Given the description of an element on the screen output the (x, y) to click on. 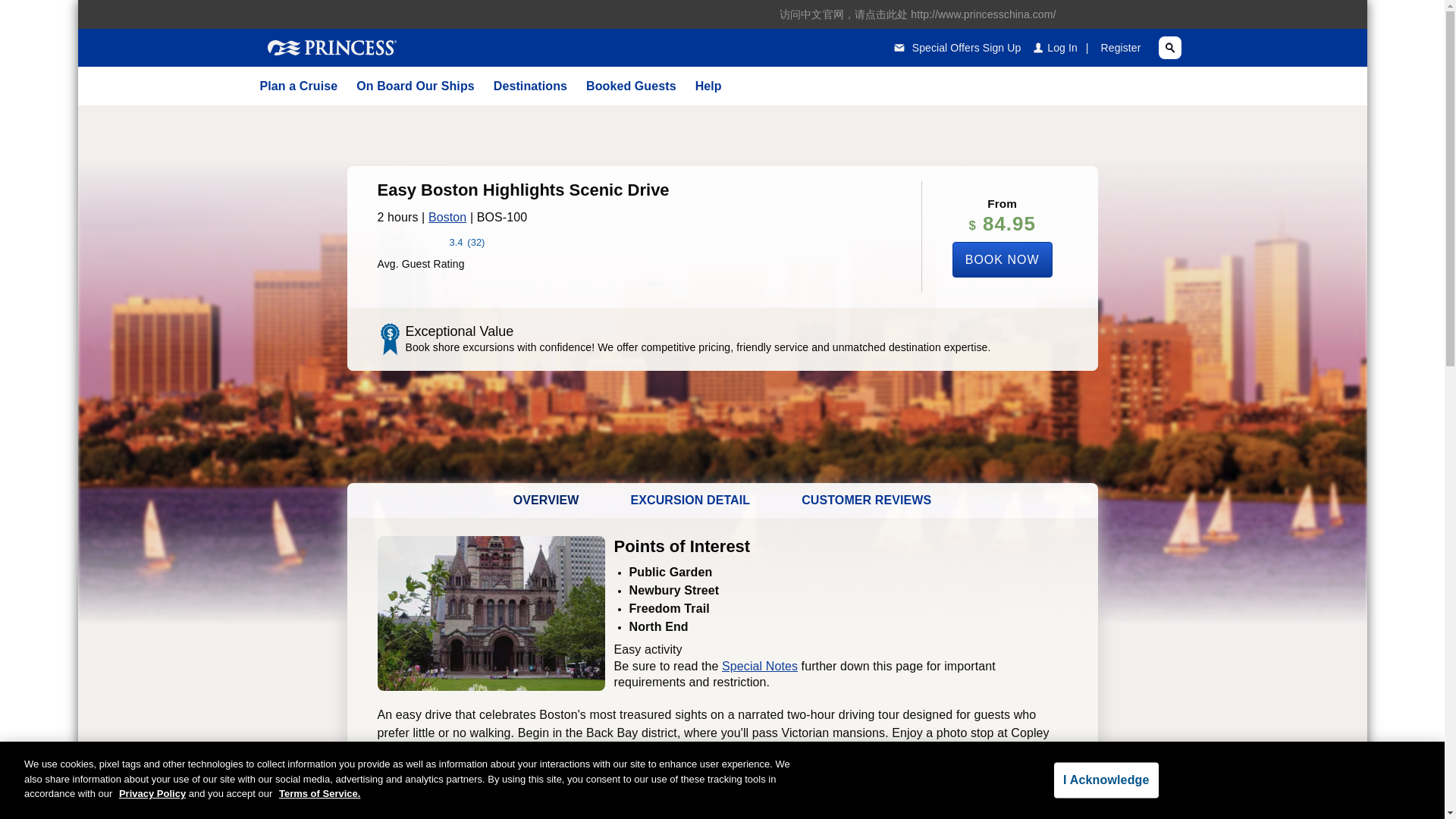
Privacy Policy (152, 793)
EXCURSION DETAIL (689, 500)
I Acknowledge (1106, 780)
BOOK NOW (1002, 259)
Terms of Service. (319, 793)
Special Notes (759, 666)
OVERVIEW (546, 500)
Boston (446, 216)
CUSTOMER REVIEWS (866, 500)
